Given the description of an element on the screen output the (x, y) to click on. 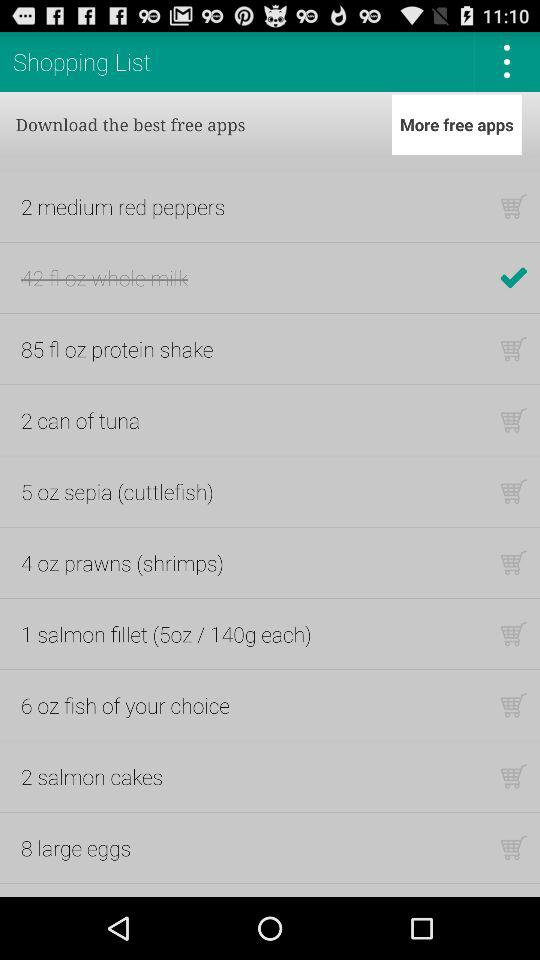
select the 8 large eggs item (76, 847)
